Given the description of an element on the screen output the (x, y) to click on. 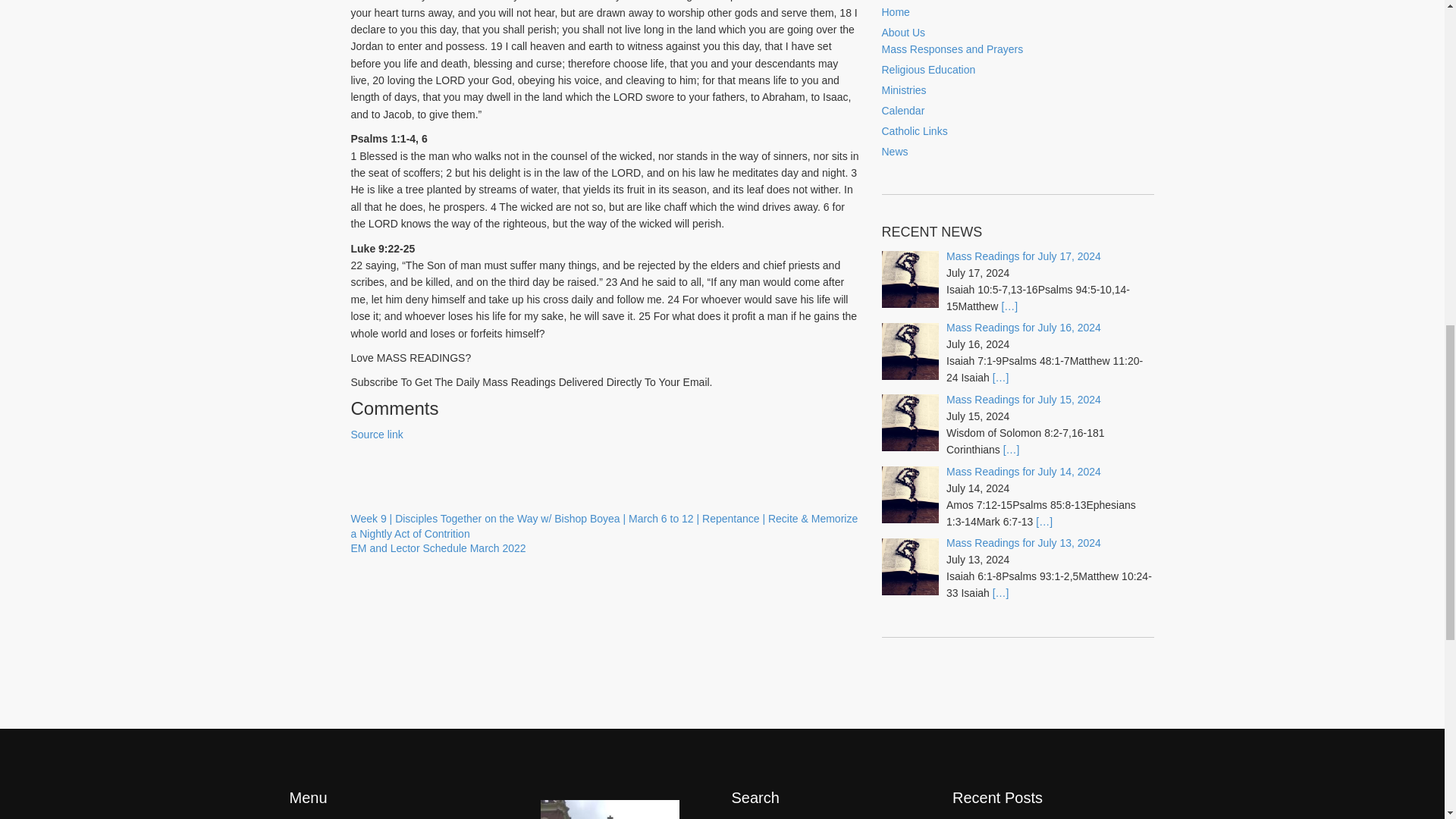
Source link (376, 434)
Mass Responses and Prayers (437, 548)
About Us (951, 49)
Religious Education (902, 32)
Home (927, 69)
Ministries (894, 11)
Mass Readings for July 16, 2024 (903, 90)
Calendar (1023, 327)
News (902, 110)
Mass Readings for July 15, 2024 (893, 151)
Mass Readings for July 14, 2024 (1023, 399)
Mass Readings for July 13, 2024 (1023, 471)
Catholic Links (1023, 542)
Mass Readings for July 17, 2024 (913, 131)
